Given the description of an element on the screen output the (x, y) to click on. 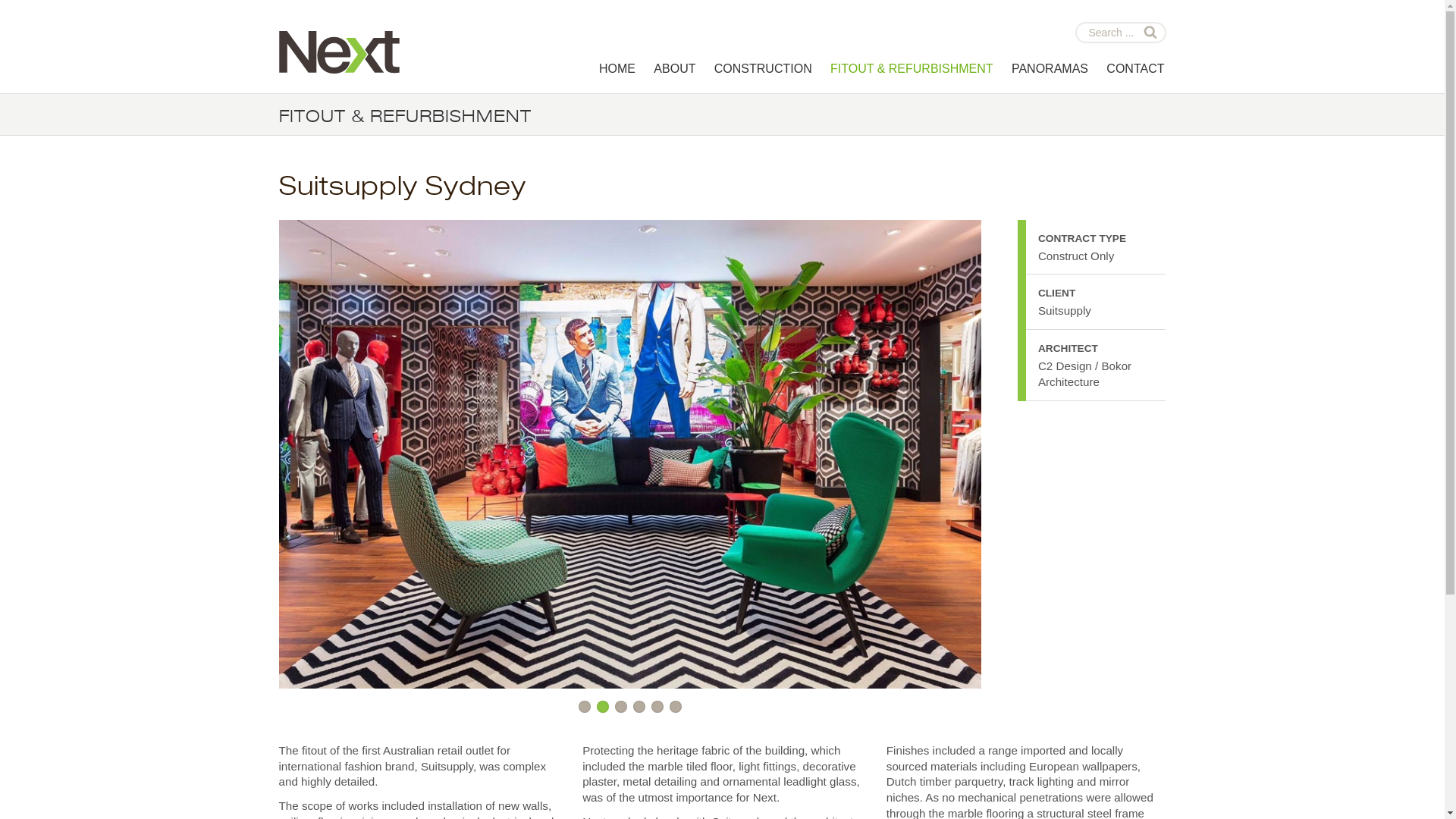
CONSTRUCTION Element type: text (762, 68)
Next Element type: text (875, 456)
2 Element type: text (602, 706)
CONTACT Element type: text (1134, 68)
1 Element type: text (584, 706)
PANORAMAS Element type: text (1049, 68)
Previous Element type: text (384, 456)
FITOUT & REFURBISHMENT Element type: text (911, 68)
Go Element type: hover (1147, 28)
4 Element type: text (639, 706)
HOME Element type: text (617, 68)
3 Element type: text (621, 706)
5 Element type: text (657, 706)
6 Element type: text (675, 706)
ABOUT Element type: text (674, 68)
